Given the description of an element on the screen output the (x, y) to click on. 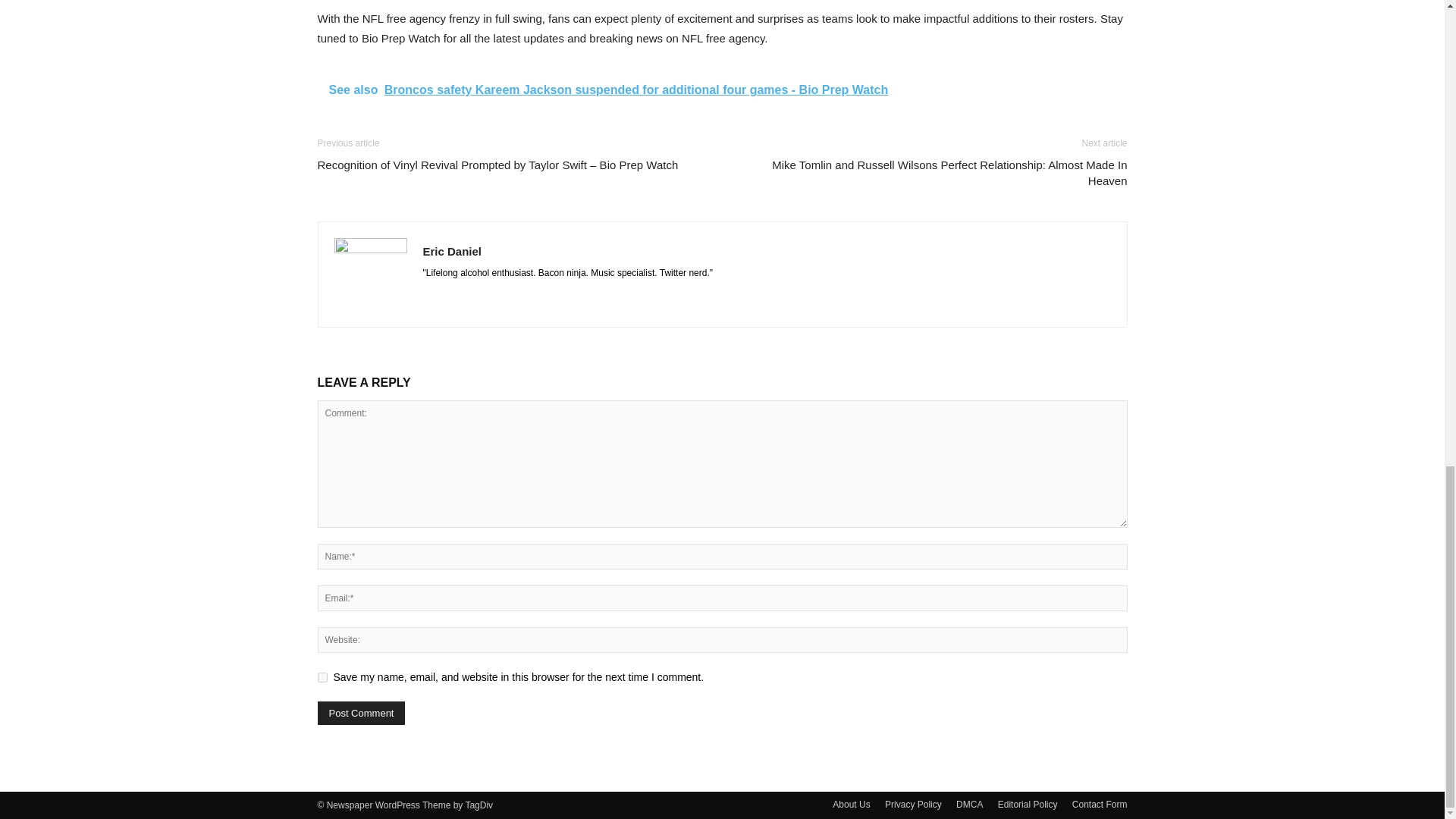
Privacy Policy (913, 804)
Contact Form (1098, 804)
About Us (850, 804)
yes (321, 677)
DMCA (969, 804)
Eric Daniel (452, 250)
Post Comment (360, 712)
Post Comment (360, 712)
Editorial Policy (1027, 804)
